Given the description of an element on the screen output the (x, y) to click on. 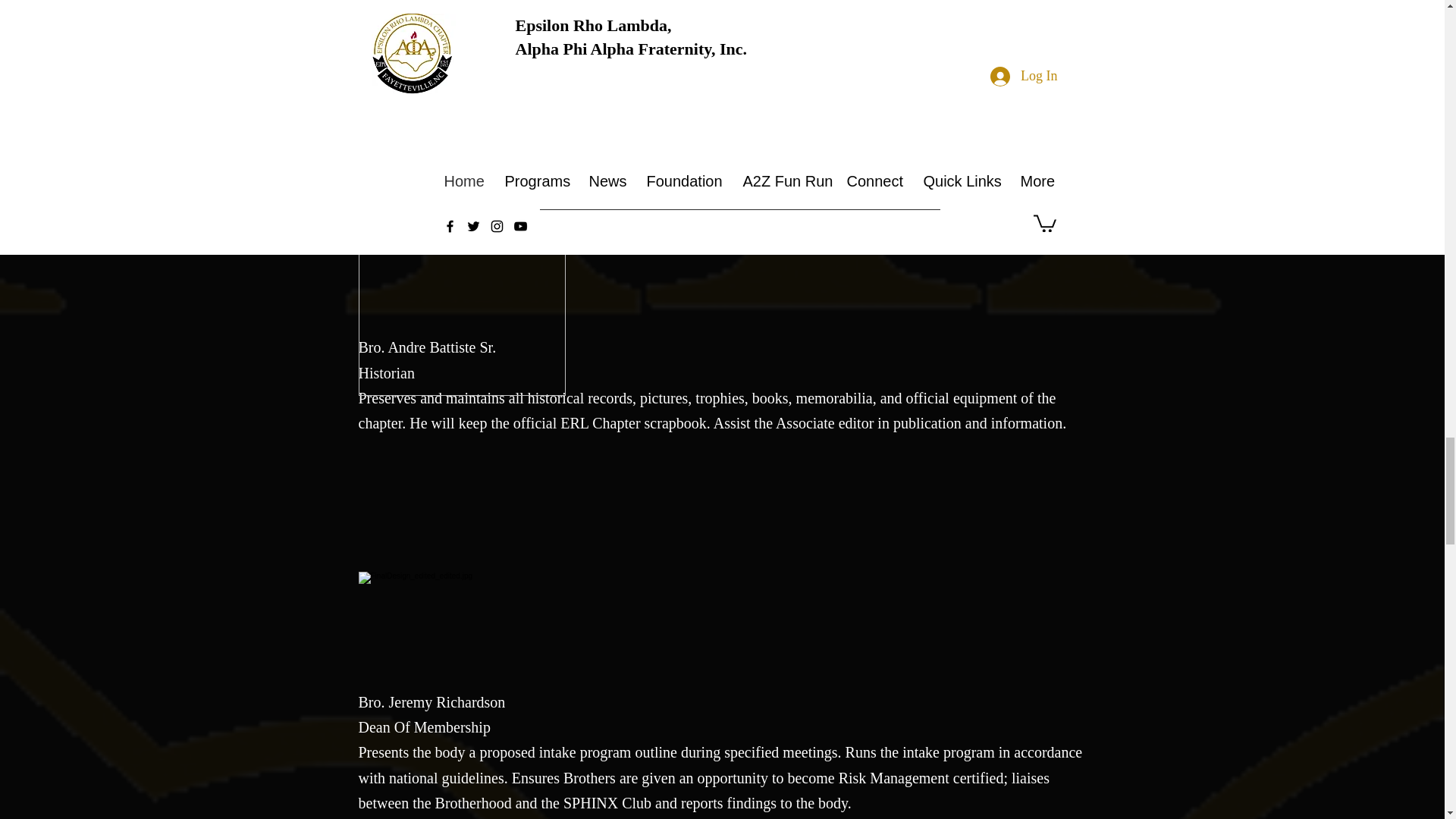
Bro. Brown.jpg (461, 676)
Bro. Battiste.jpg (461, 290)
